Given the description of an element on the screen output the (x, y) to click on. 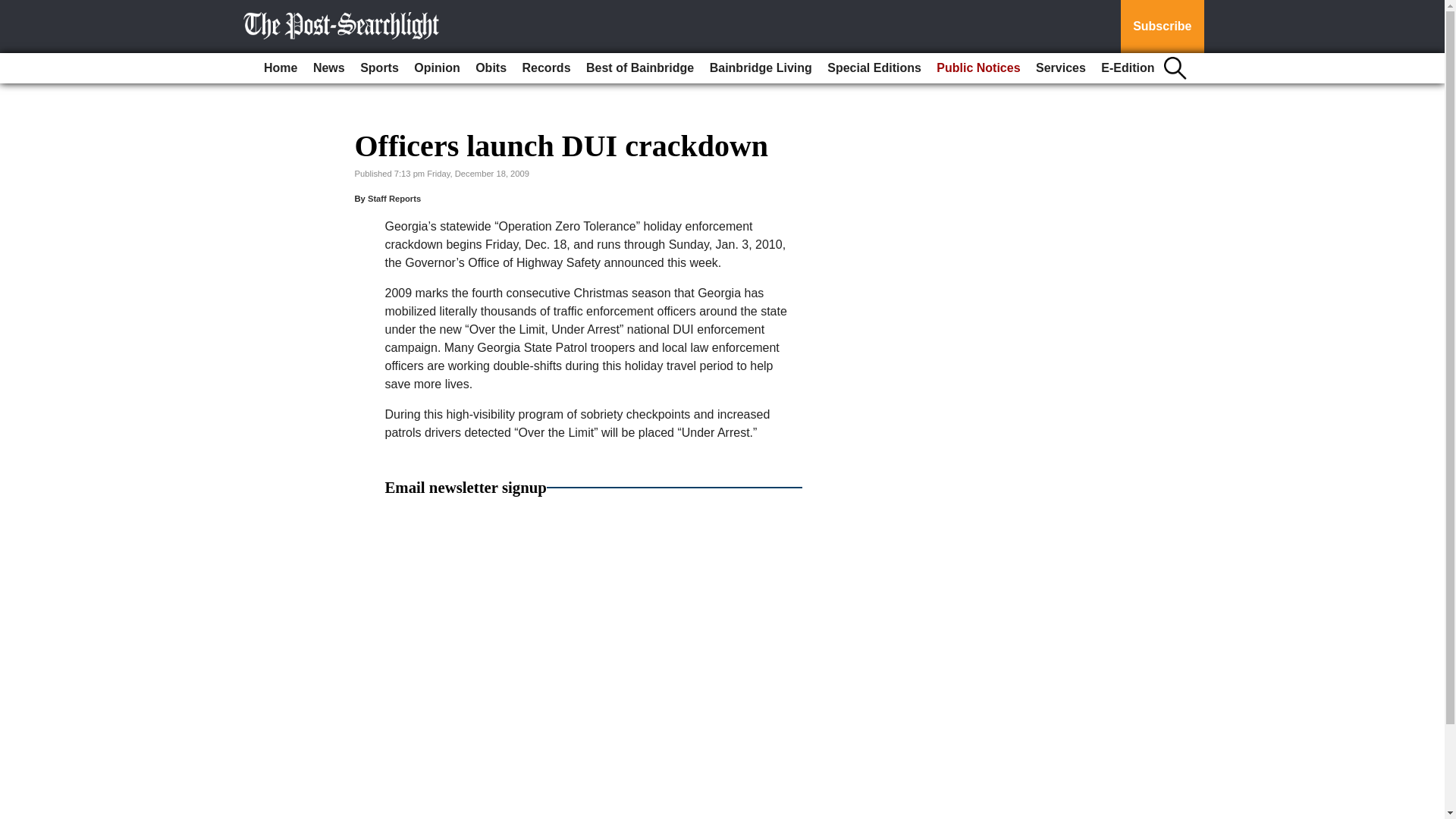
Bainbridge Living (760, 68)
News (328, 68)
Sports (378, 68)
Home (279, 68)
Subscribe (1162, 26)
Obits (490, 68)
Go (13, 9)
Opinion (436, 68)
Services (1060, 68)
E-Edition (1127, 68)
